Given the description of an element on the screen output the (x, y) to click on. 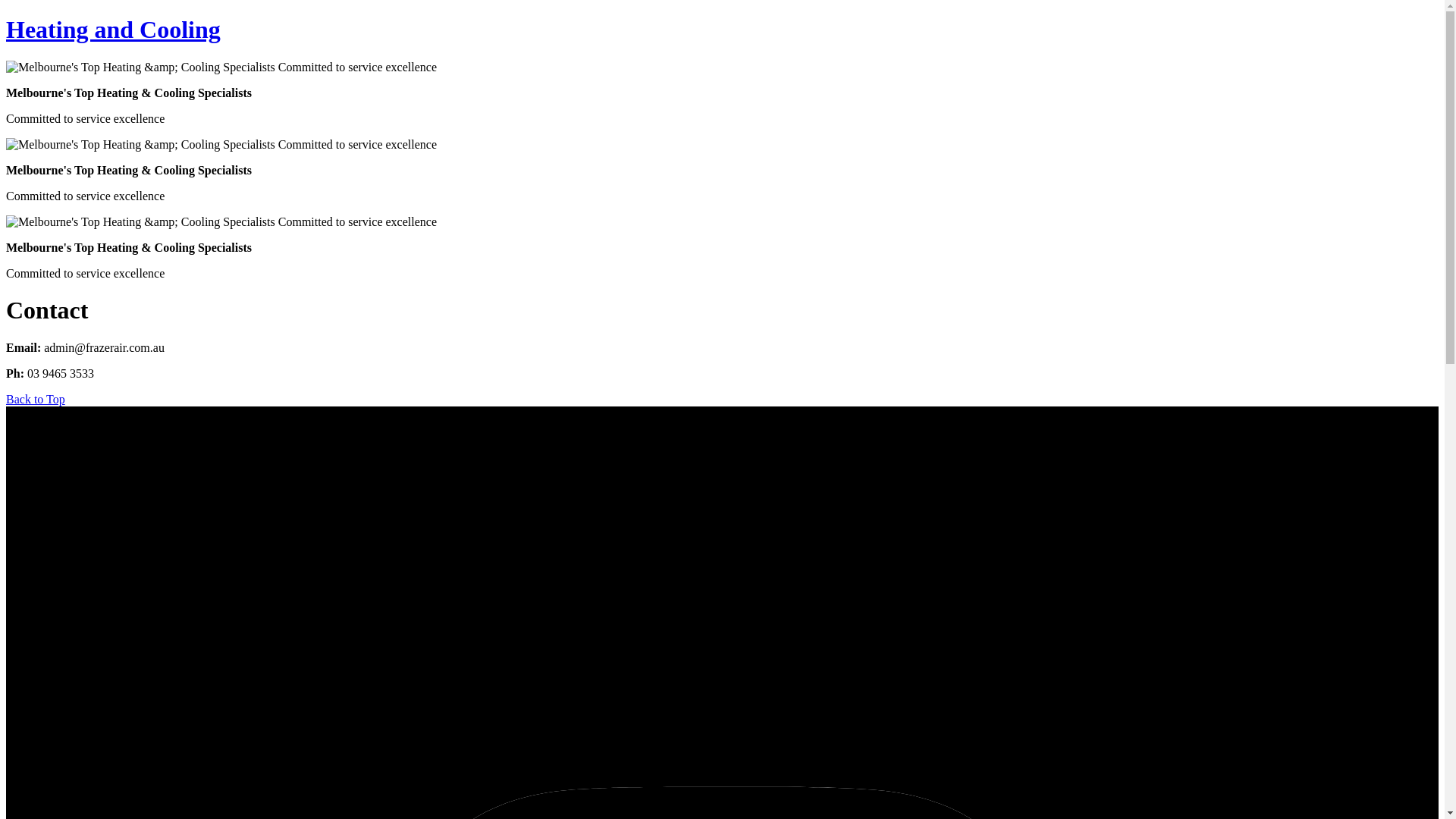
Heating and Cooling Element type: text (113, 29)
Back to Top Element type: text (35, 398)
